Given the description of an element on the screen output the (x, y) to click on. 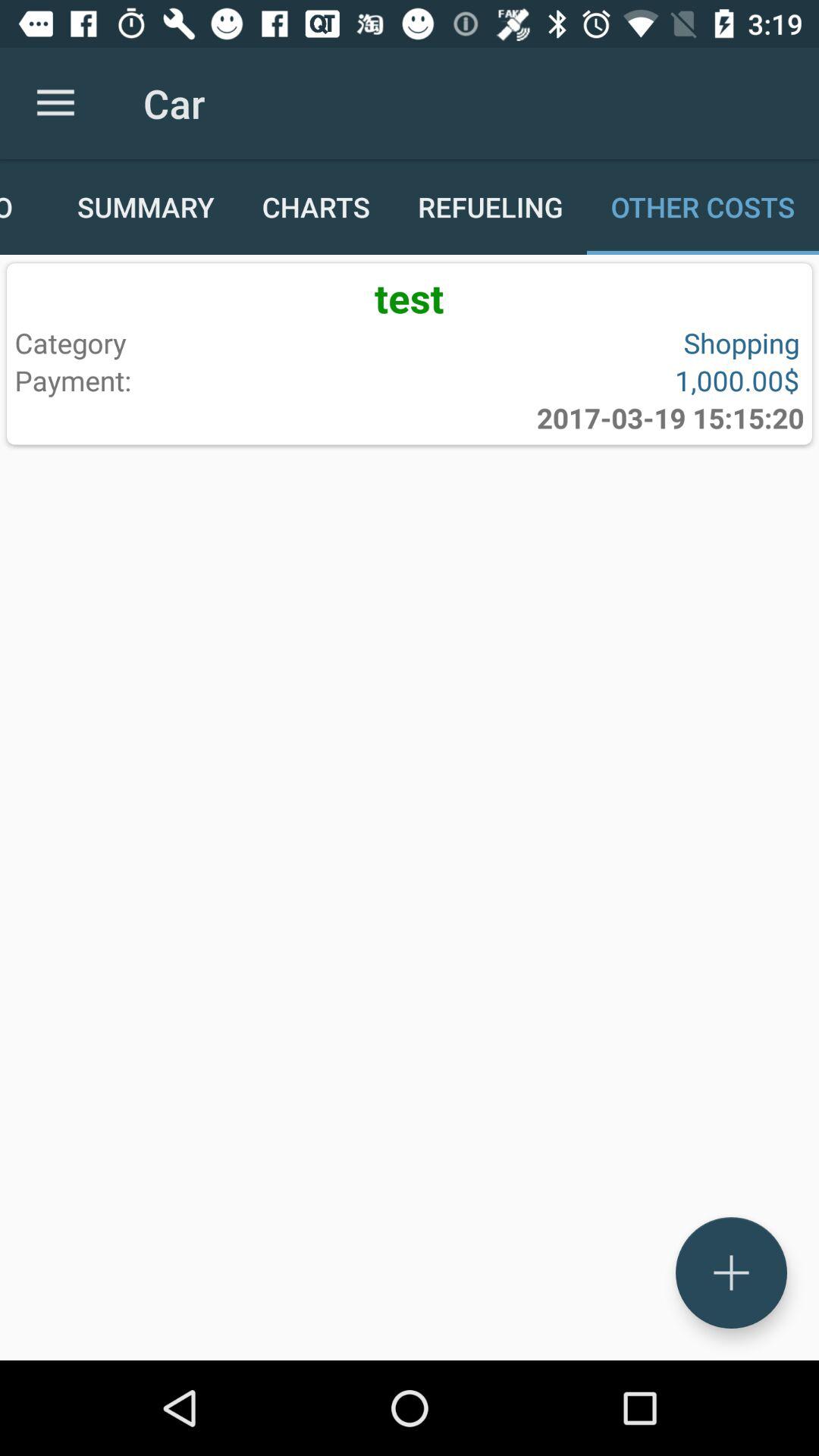
choose the item above the info icon (55, 103)
